Given the description of an element on the screen output the (x, y) to click on. 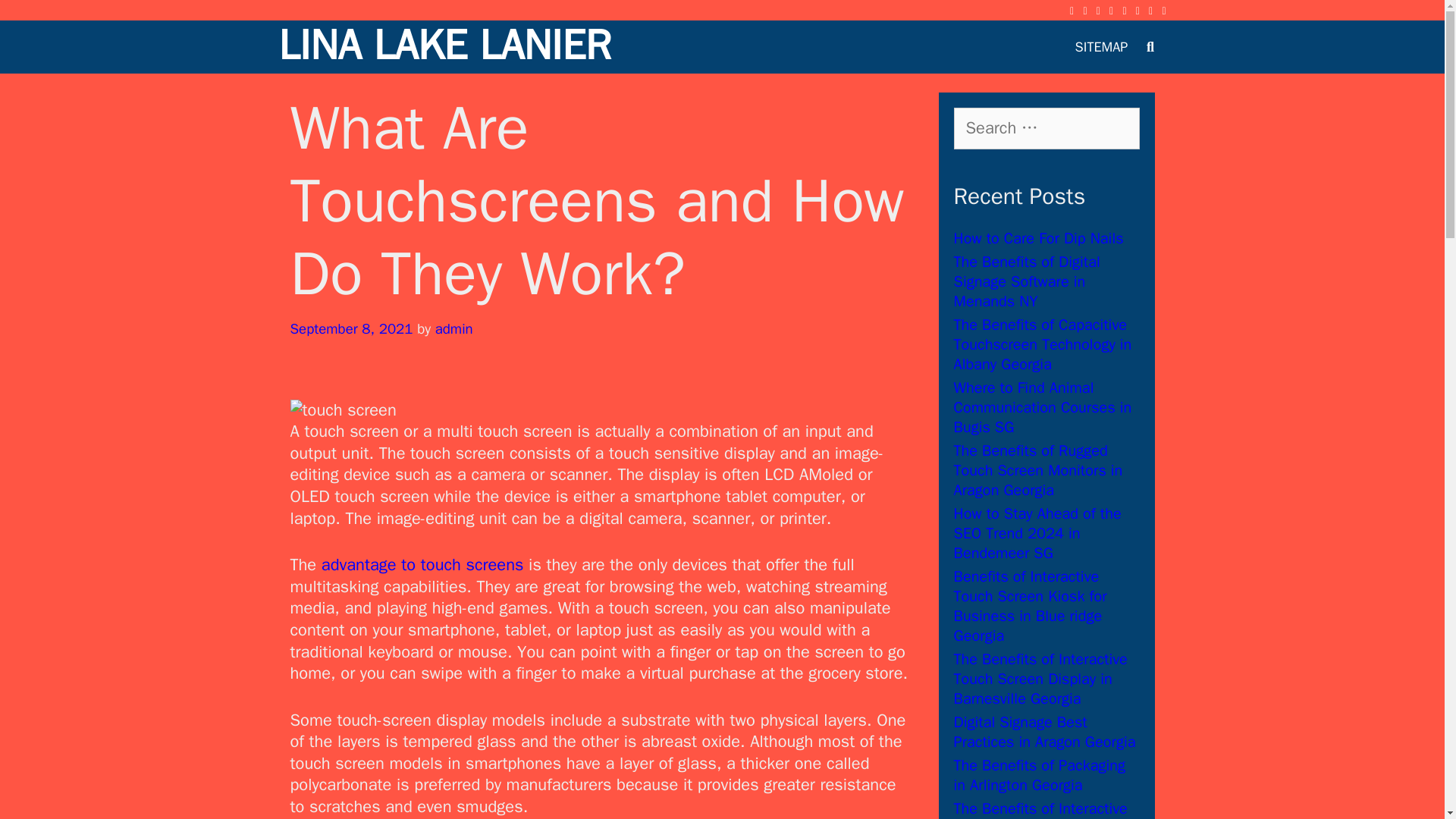
September 8, 2021 (350, 329)
How to Care For Dip Nails (1038, 238)
The Benefits of Digital Signage Software in Menands NY (1026, 281)
The Benefits of Packaging in Arlington Georgia (1039, 774)
admin (454, 329)
Digital Signage Best Practices in Aragon Georgia (1044, 731)
Search for: (1046, 128)
